Given the description of an element on the screen output the (x, y) to click on. 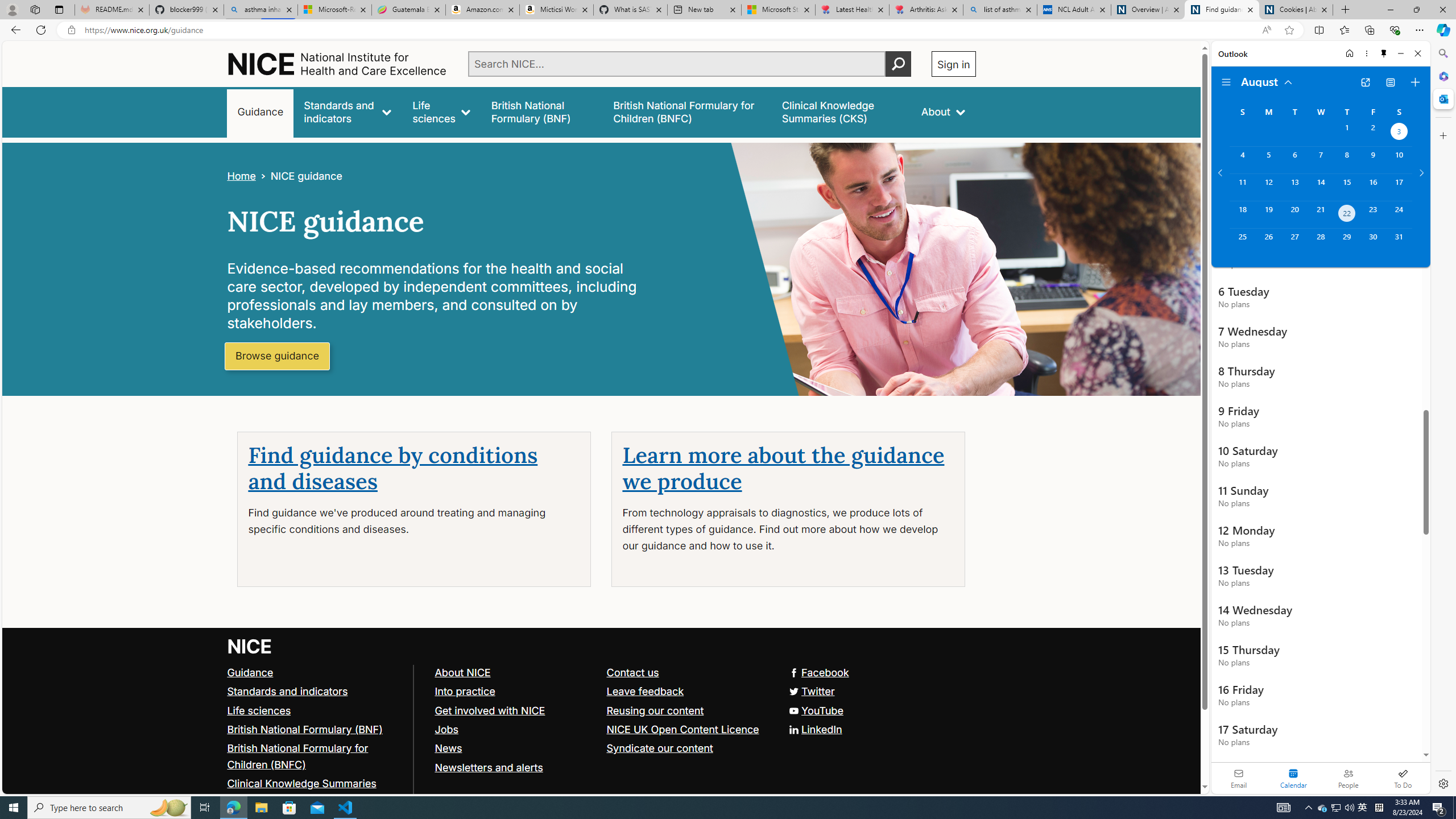
Settings (1442, 783)
Close tab (1324, 9)
Saturday, August 3, 2024. Date selected.  (1399, 132)
Newsletters and alerts (488, 766)
Home (1348, 53)
Find guidance | NICE (1221, 9)
Life sciences (259, 710)
Personal Profile (12, 9)
Newsletters and alerts (514, 767)
LinkedIn (601, 729)
Create event (1414, 82)
